Given the description of an element on the screen output the (x, y) to click on. 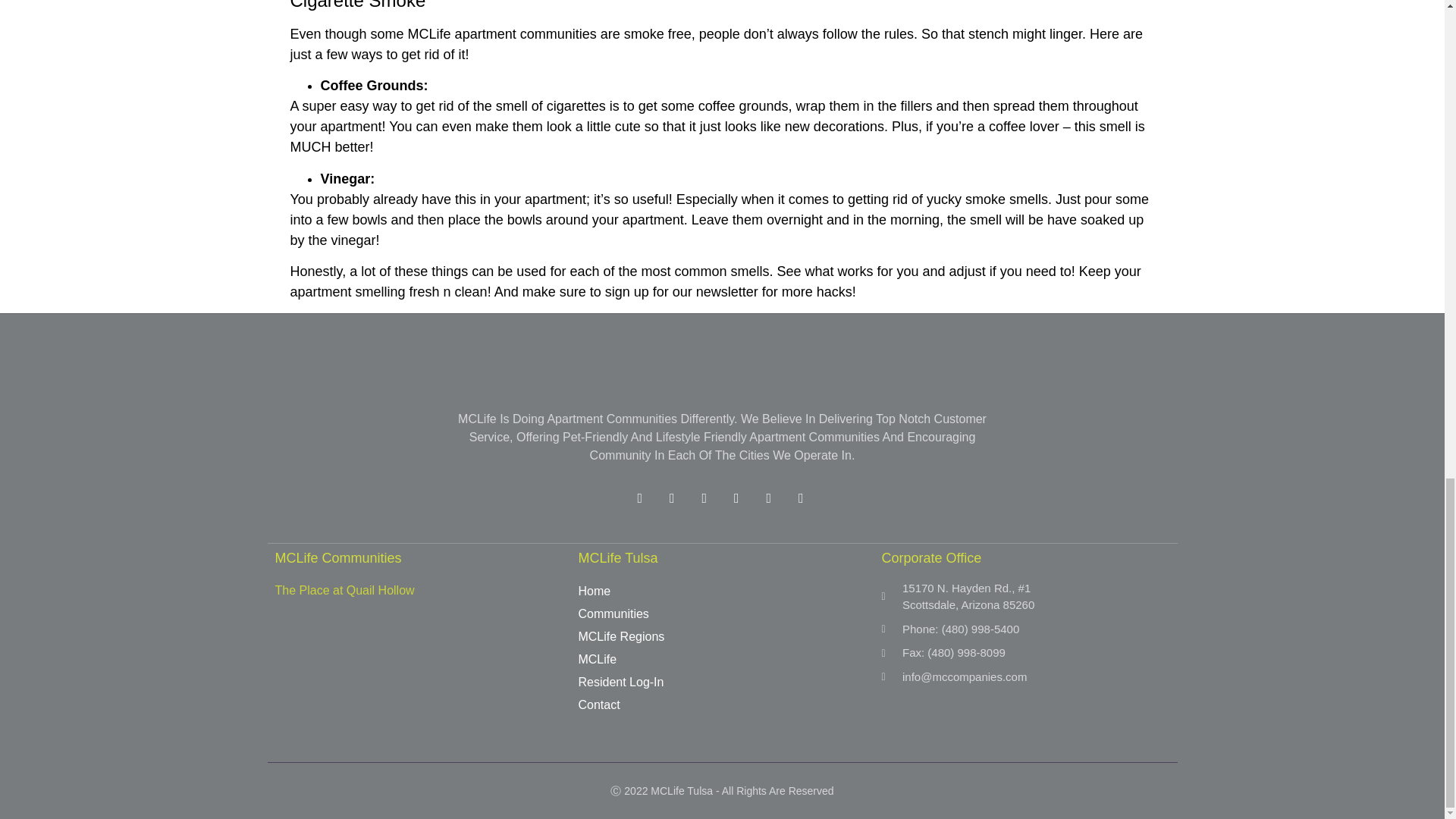
Communities (722, 613)
MCLife (722, 659)
MCLife Regions (722, 636)
Home (722, 590)
The Place at Quail Hollow (344, 590)
